Given the description of an element on the screen output the (x, y) to click on. 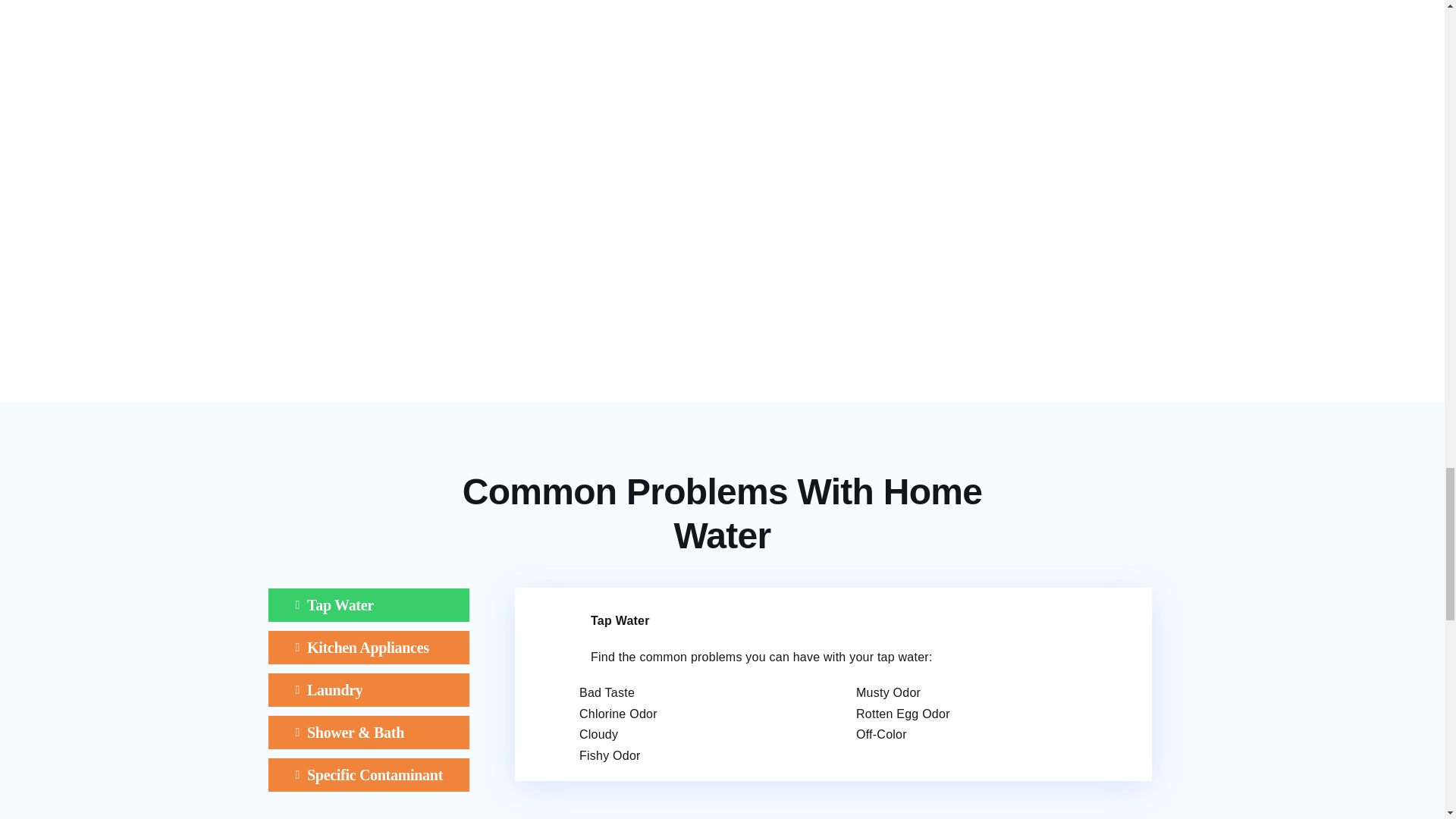
Kitchen Appliances (368, 647)
Specific Contaminant (368, 774)
Tap Water (368, 605)
Laundry (368, 689)
